Given the description of an element on the screen output the (x, y) to click on. 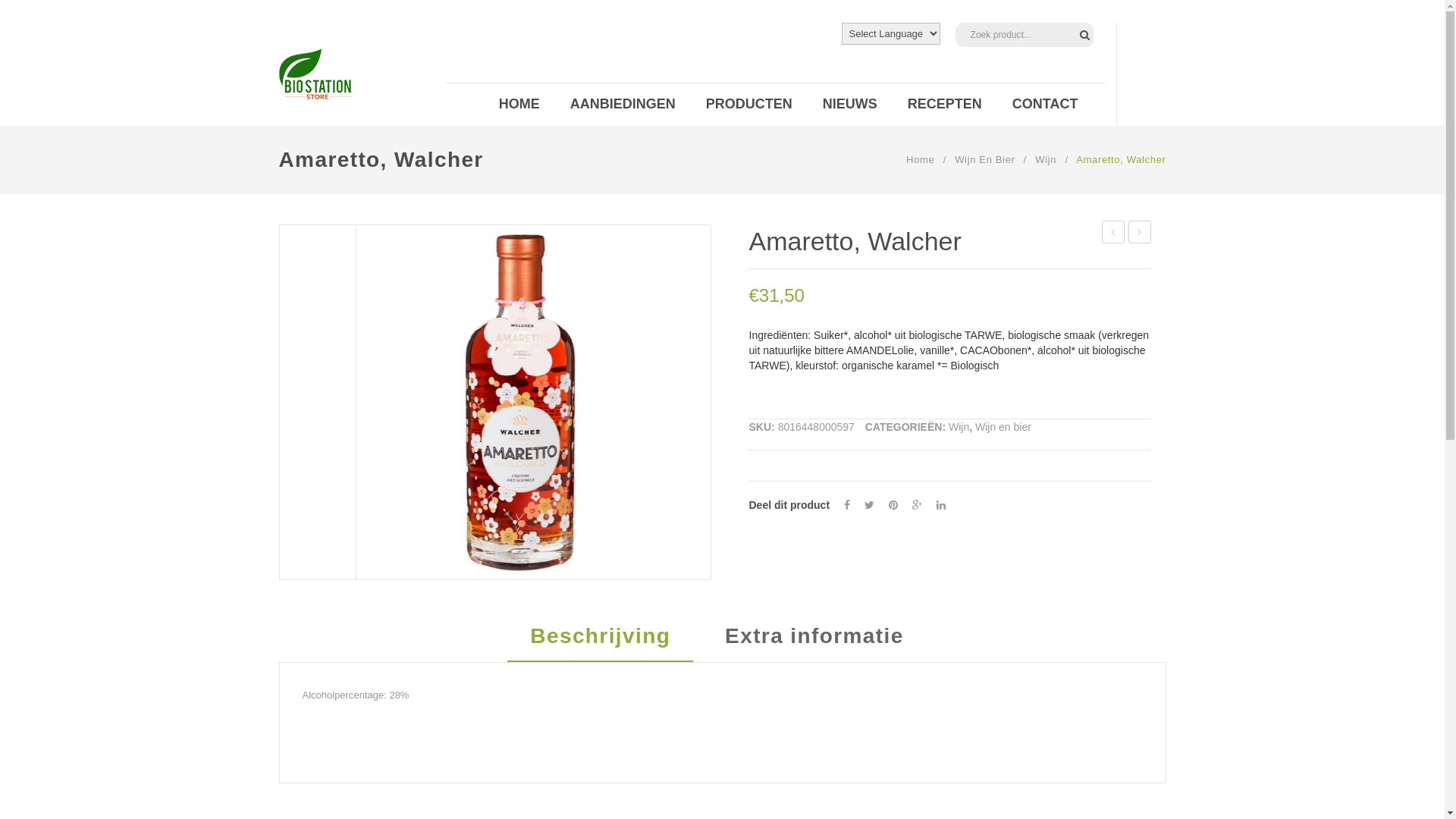
8016448000597 Element type: hover (533, 402)
NIEUWS Element type: text (849, 104)
Home Element type: text (920, 159)
Chocolate gingers, Island Bakery Element type: text (1112, 231)
Extra informatie Element type: text (814, 643)
Google + Element type: hover (917, 504)
Twitter Element type: hover (869, 504)
Zoute krakelingen, Erdmann Hauser Element type: text (1139, 231)
HOME Element type: text (519, 104)
Beschrijving Element type: text (599, 643)
Facebook Element type: hover (847, 504)
AANBIEDINGEN Element type: text (622, 104)
PRODUCTEN Element type: text (748, 104)
Pinterest Element type: hover (892, 504)
Wijn Element type: text (958, 426)
Wijn Element type: text (1045, 159)
RECEPTEN Element type: text (944, 104)
Wijn En Bier Element type: text (984, 159)
CONTACT Element type: text (1045, 104)
LinkedIn Element type: hover (940, 504)
Wijn en bier Element type: text (1003, 426)
